Given the description of an element on the screen output the (x, y) to click on. 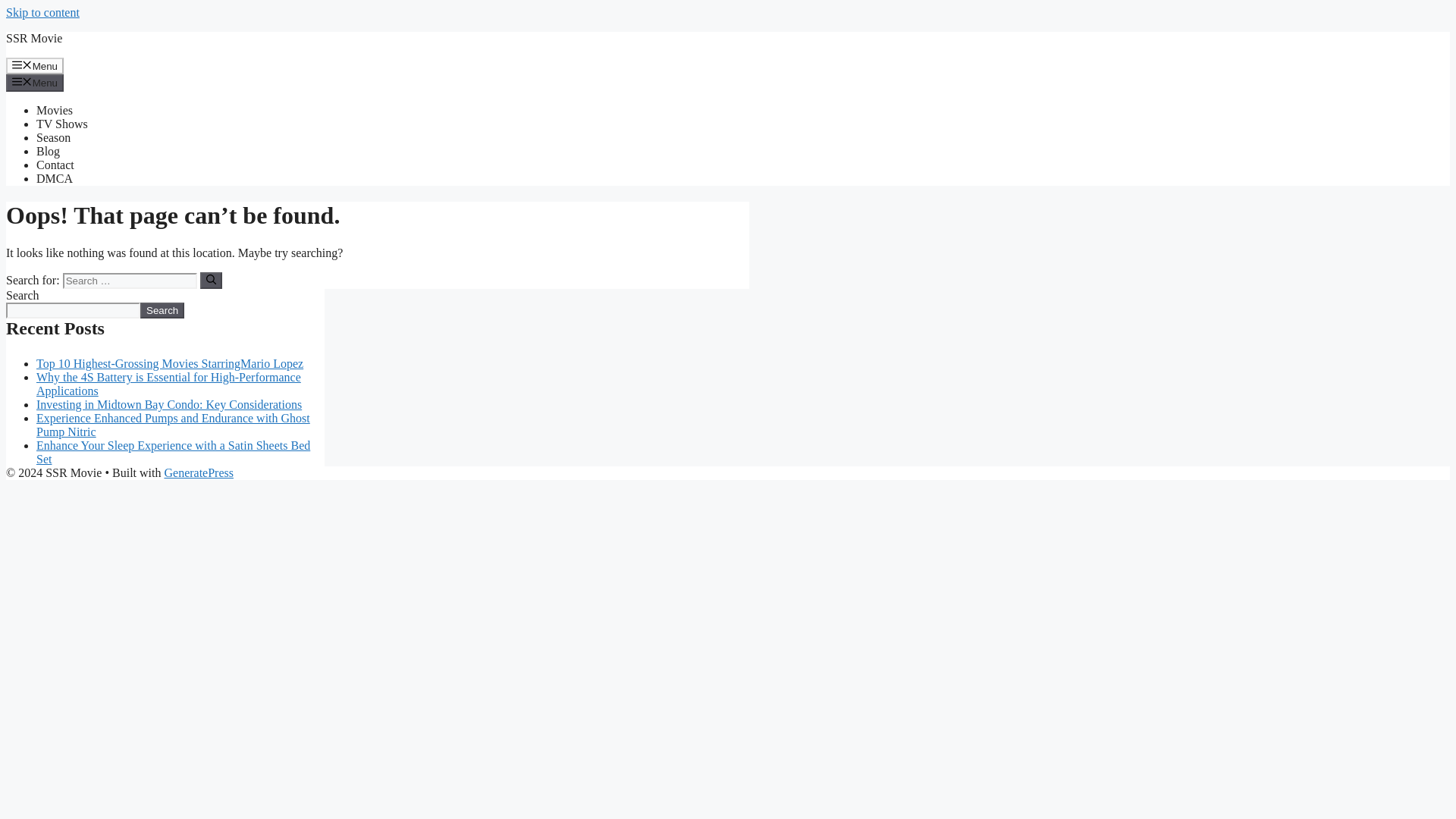
Top 10 Highest-Grossing Movies StarringMario Lopez (169, 363)
DMCA (54, 178)
Menu (34, 82)
Investing in Midtown Bay Condo: Key Considerations (168, 404)
Skip to content (42, 11)
Blog (47, 151)
Contact (55, 164)
Menu (34, 65)
Search for: (129, 280)
